Given the description of an element on the screen output the (x, y) to click on. 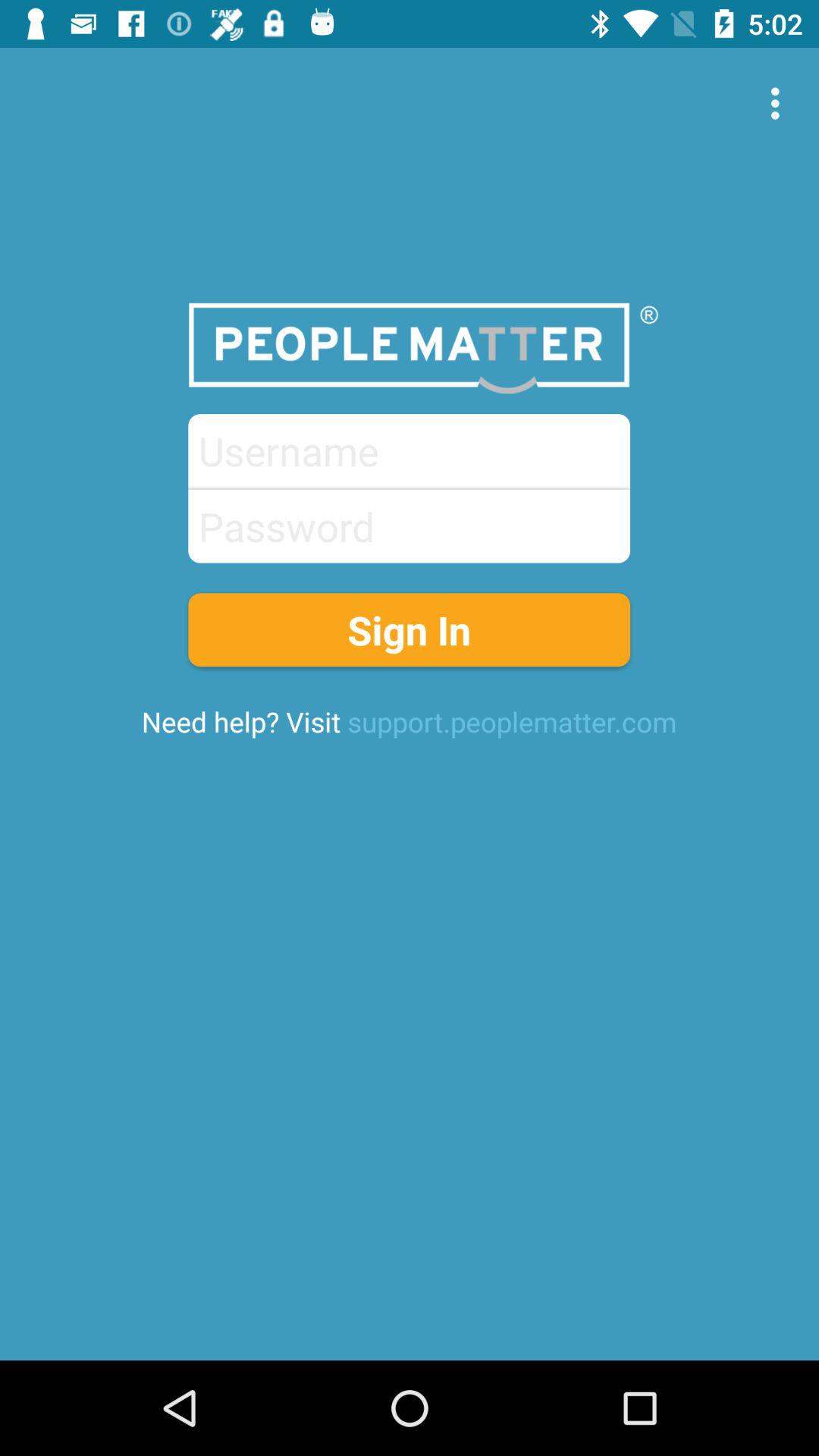
press icon at the top right corner (779, 103)
